Given the description of an element on the screen output the (x, y) to click on. 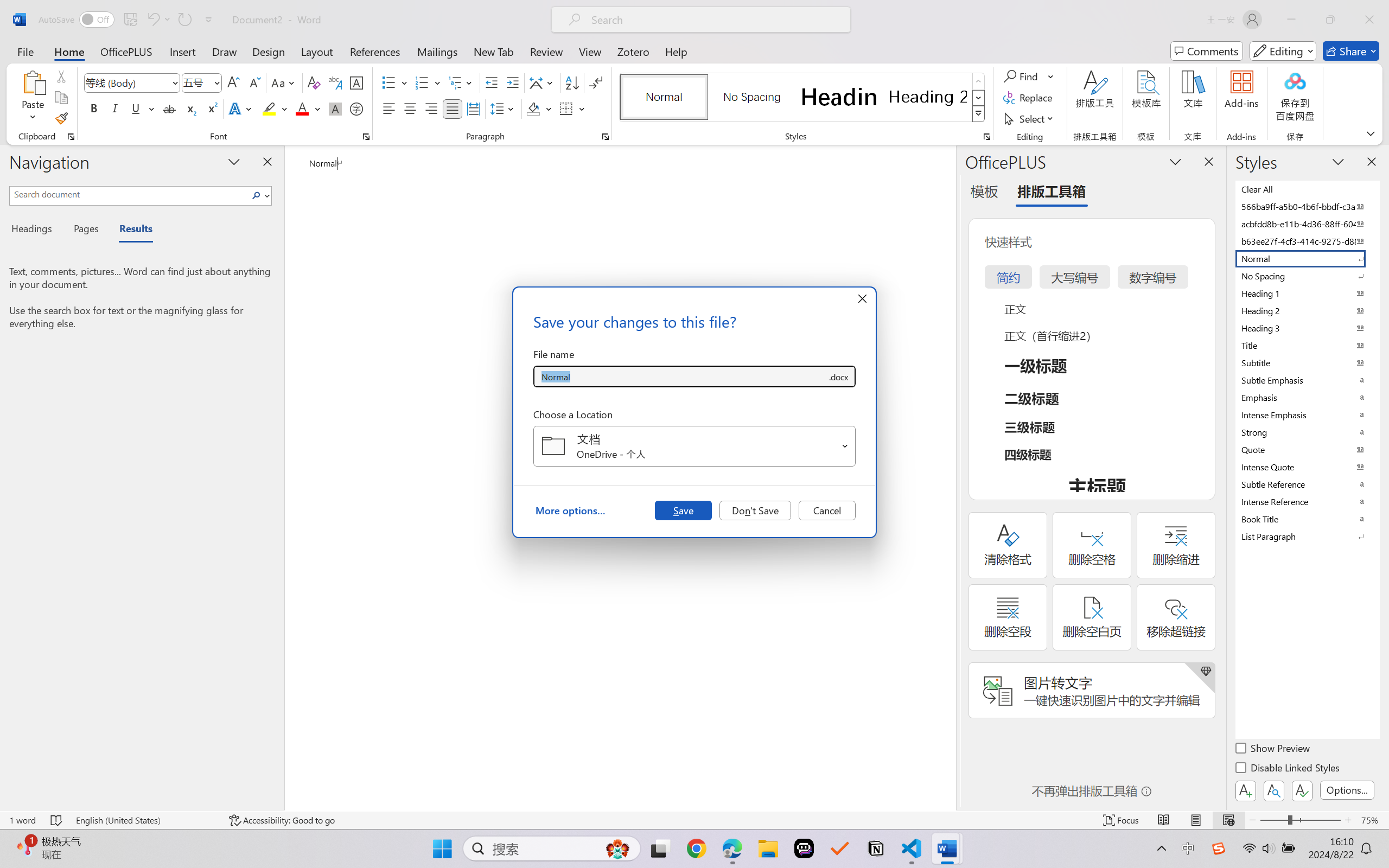
Search document (128, 193)
Text Highlight Color (274, 108)
Paragraph... (605, 136)
Enclose Characters... (356, 108)
Text Highlight Color Yellow (269, 108)
Align Right (431, 108)
Share (1350, 51)
Minimize (1291, 19)
Character Shading (334, 108)
Heading 3 (1306, 327)
Class: NetUIButton (1301, 790)
